Given the description of an element on the screen output the (x, y) to click on. 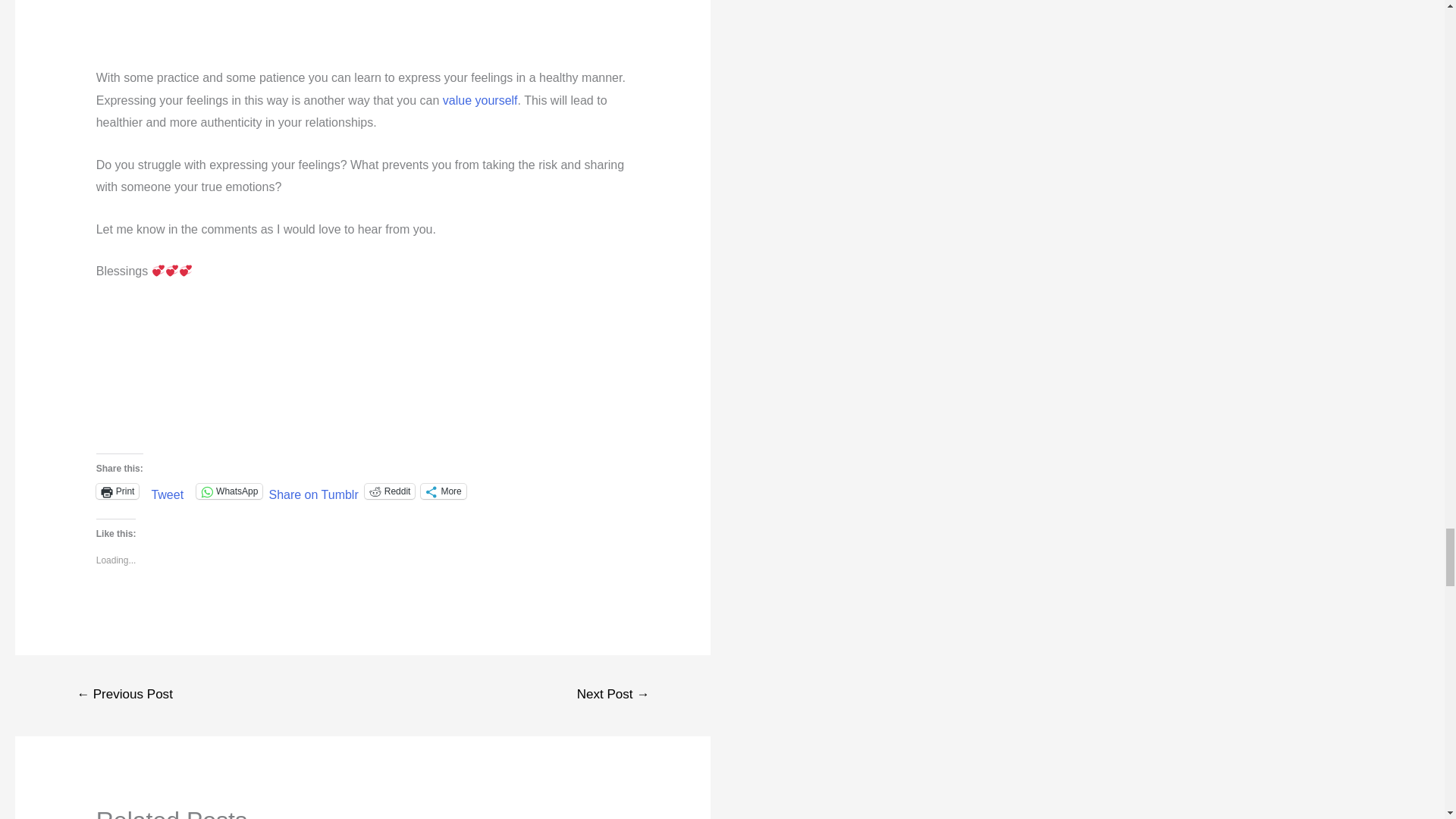
Share on Tumblr (312, 490)
WhatsApp (229, 491)
value yourself (480, 100)
Print (117, 491)
Click to share on WhatsApp (229, 491)
Click to print (117, 491)
Click to share on Reddit (389, 491)
Reddit (389, 491)
More (442, 491)
Share on Tumblr (312, 490)
Tweet (167, 490)
